Given the description of an element on the screen output the (x, y) to click on. 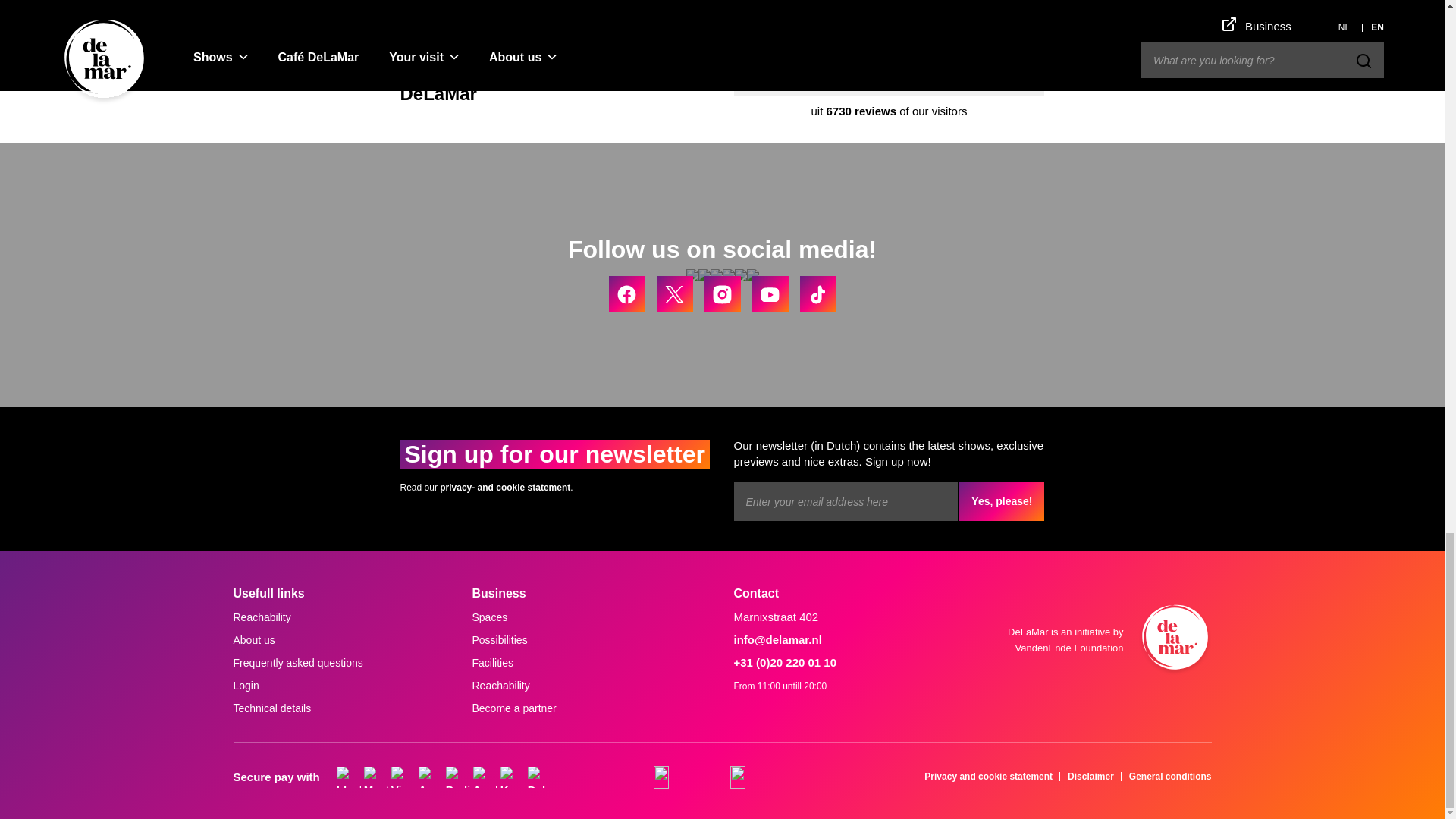
TikTok (817, 294)
Twitter (674, 294)
YouTube (770, 294)
Instagram (721, 294)
Facebook (626, 294)
